Given the description of an element on the screen output the (x, y) to click on. 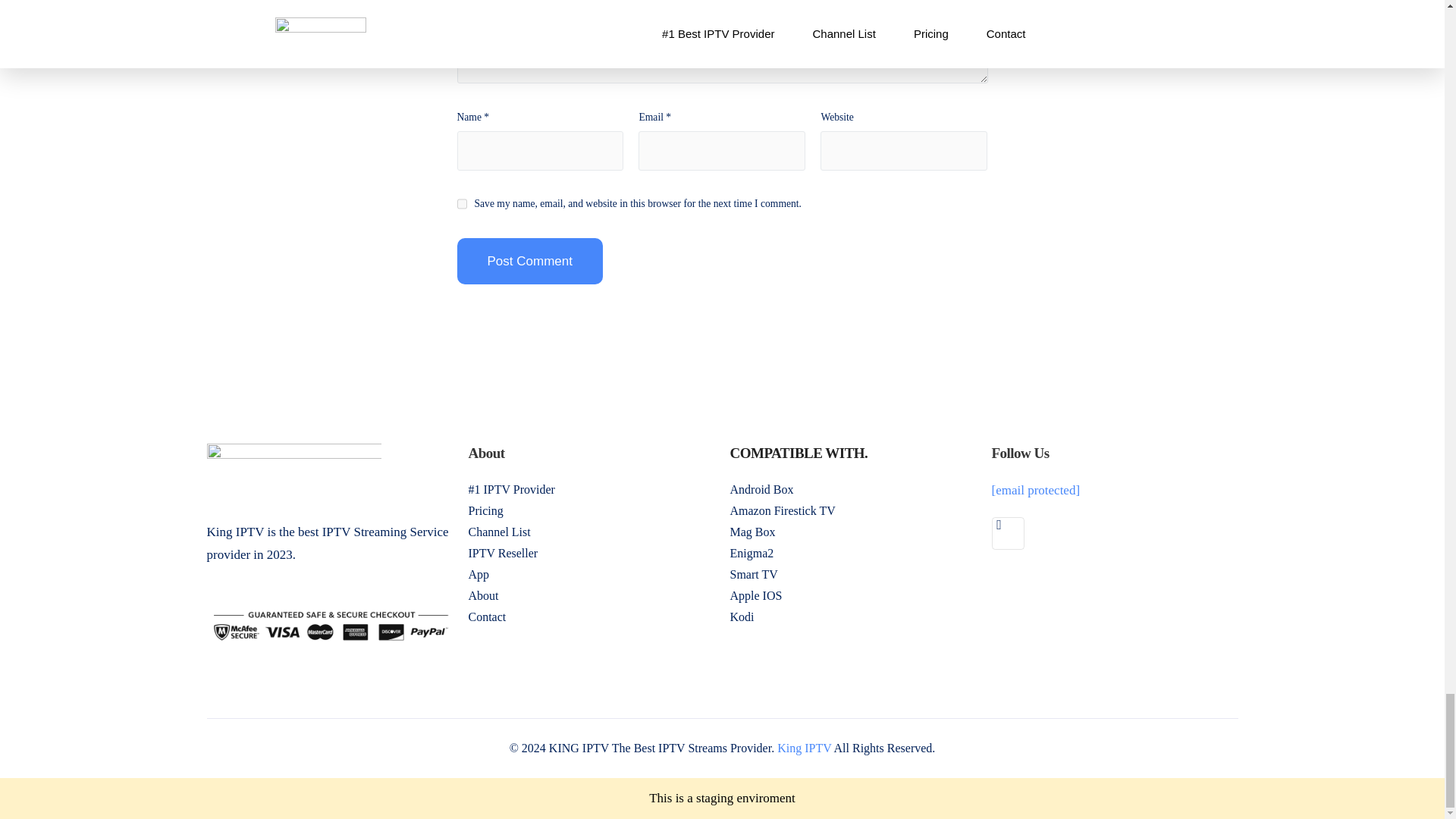
Pricing (591, 510)
Post Comment (529, 261)
IPTV Reseller (591, 553)
King IPTV (804, 748)
Channel List (591, 531)
About (591, 595)
Post Comment (529, 261)
Contact (591, 617)
App (591, 574)
